Given the description of an element on the screen output the (x, y) to click on. 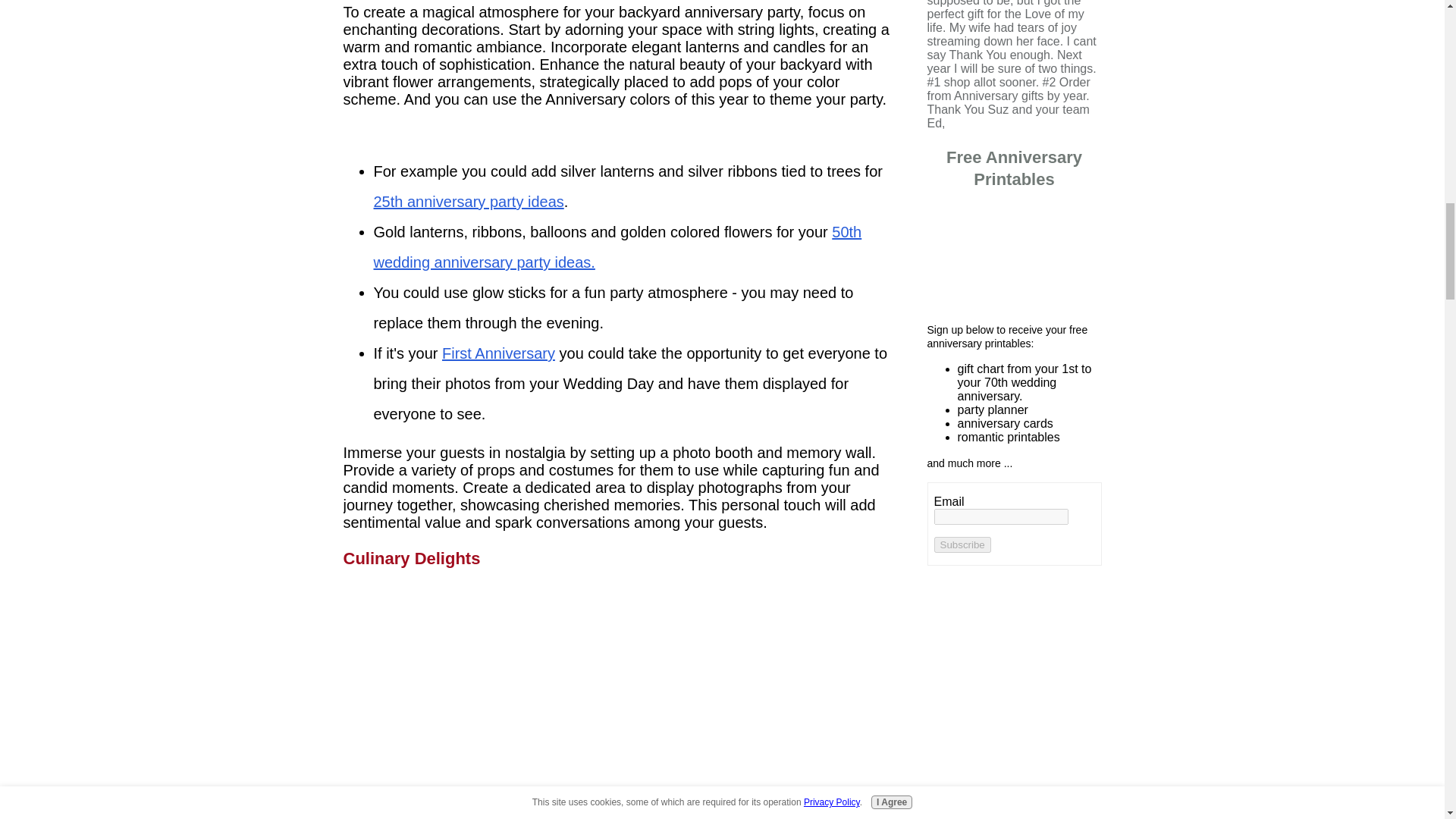
anniversary gifts by year chart (1013, 254)
anniversary party food (620, 689)
